Given the description of an element on the screen output the (x, y) to click on. 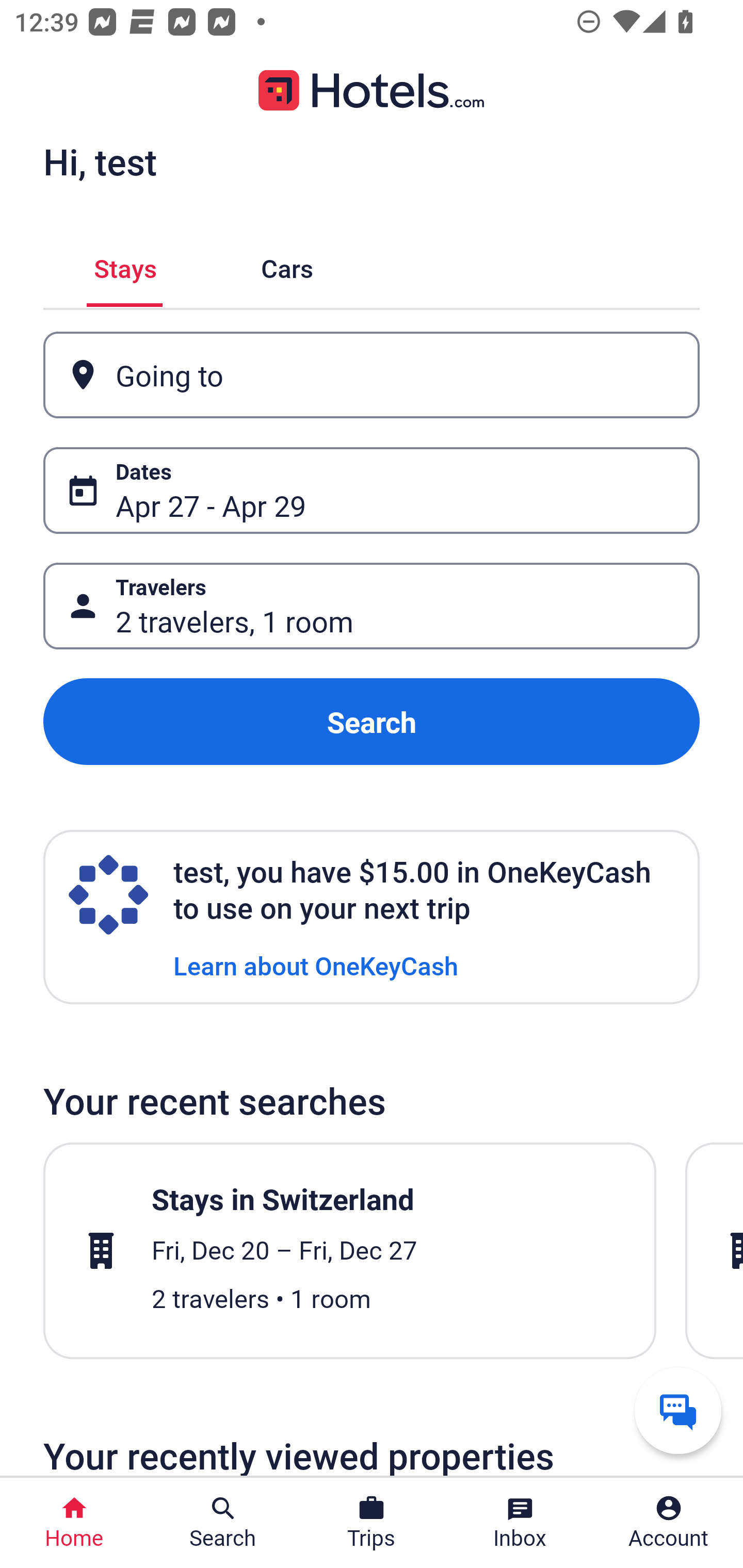
Hi, test (99, 161)
Cars (286, 265)
Going to Button (371, 375)
Dates Button Apr 27 - Apr 29 (371, 489)
Travelers Button 2 travelers, 1 room (371, 605)
Search (371, 721)
Learn about OneKeyCash Learn about OneKeyCash Link (315, 964)
Get help from a virtual agent (677, 1410)
Search Search Button (222, 1522)
Trips Trips Button (371, 1522)
Inbox Inbox Button (519, 1522)
Account Profile. Button (668, 1522)
